Given the description of an element on the screen output the (x, y) to click on. 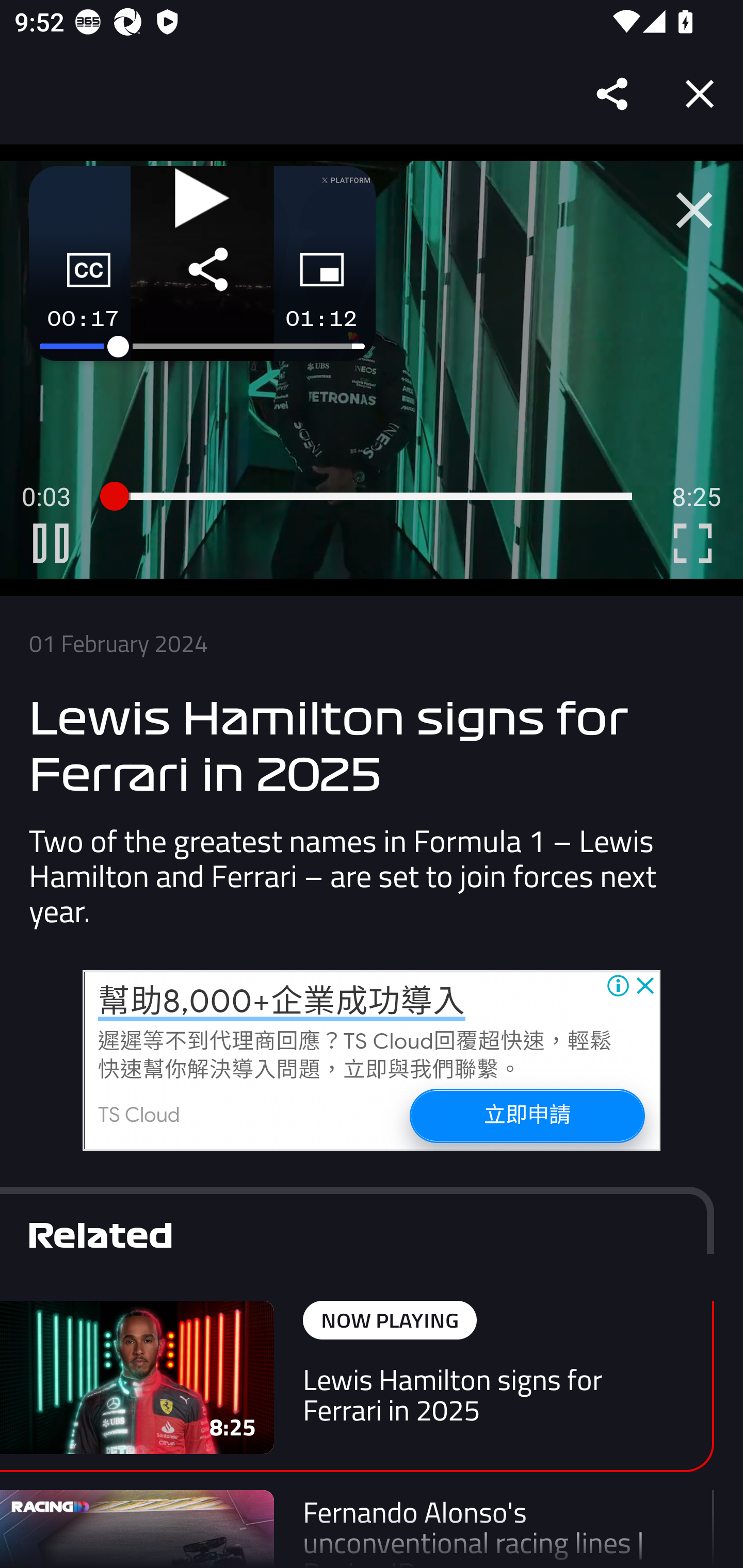
Share (612, 93)
Close (699, 93)
 Close (693, 210)
B Pause (50, 543)
C Enter Fullscreen (692, 543)
幫助8,000+企業成功導入 (281, 1001)
立即申請 (526, 1114)
TS Cloud (139, 1115)
